Given the description of an element on the screen output the (x, y) to click on. 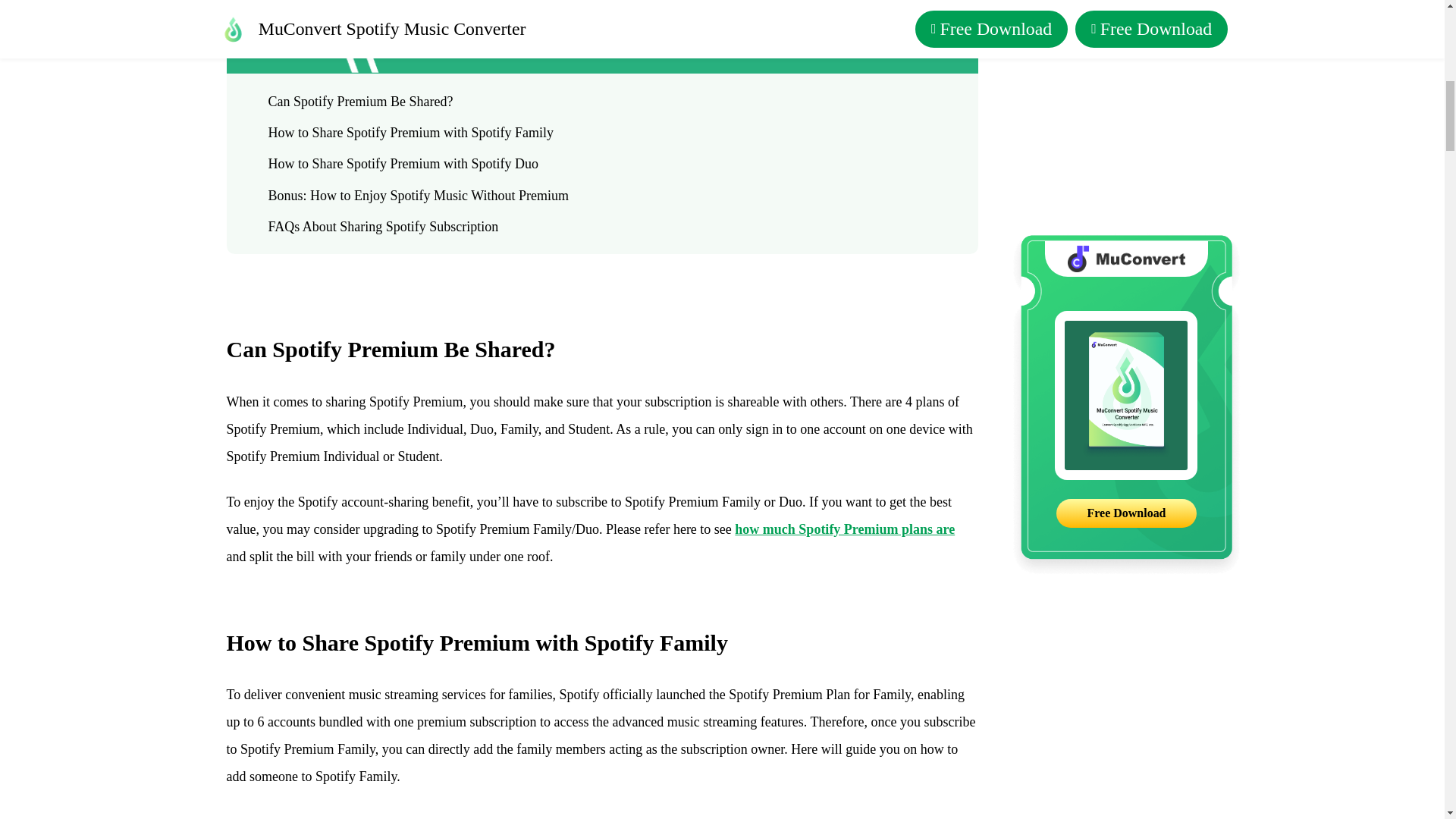
How to Share Spotify Premium with Spotify Duo (598, 164)
Bonus: How to Enjoy Spotify Music Without Premium (598, 196)
How to Share Spotify Premium with Spotify Family (598, 132)
how much Spotify Premium plans are (845, 529)
Can Spotify Premium Be Shared? (598, 101)
FAQs About Sharing Spotify Subscription (598, 227)
